Given the description of an element on the screen output the (x, y) to click on. 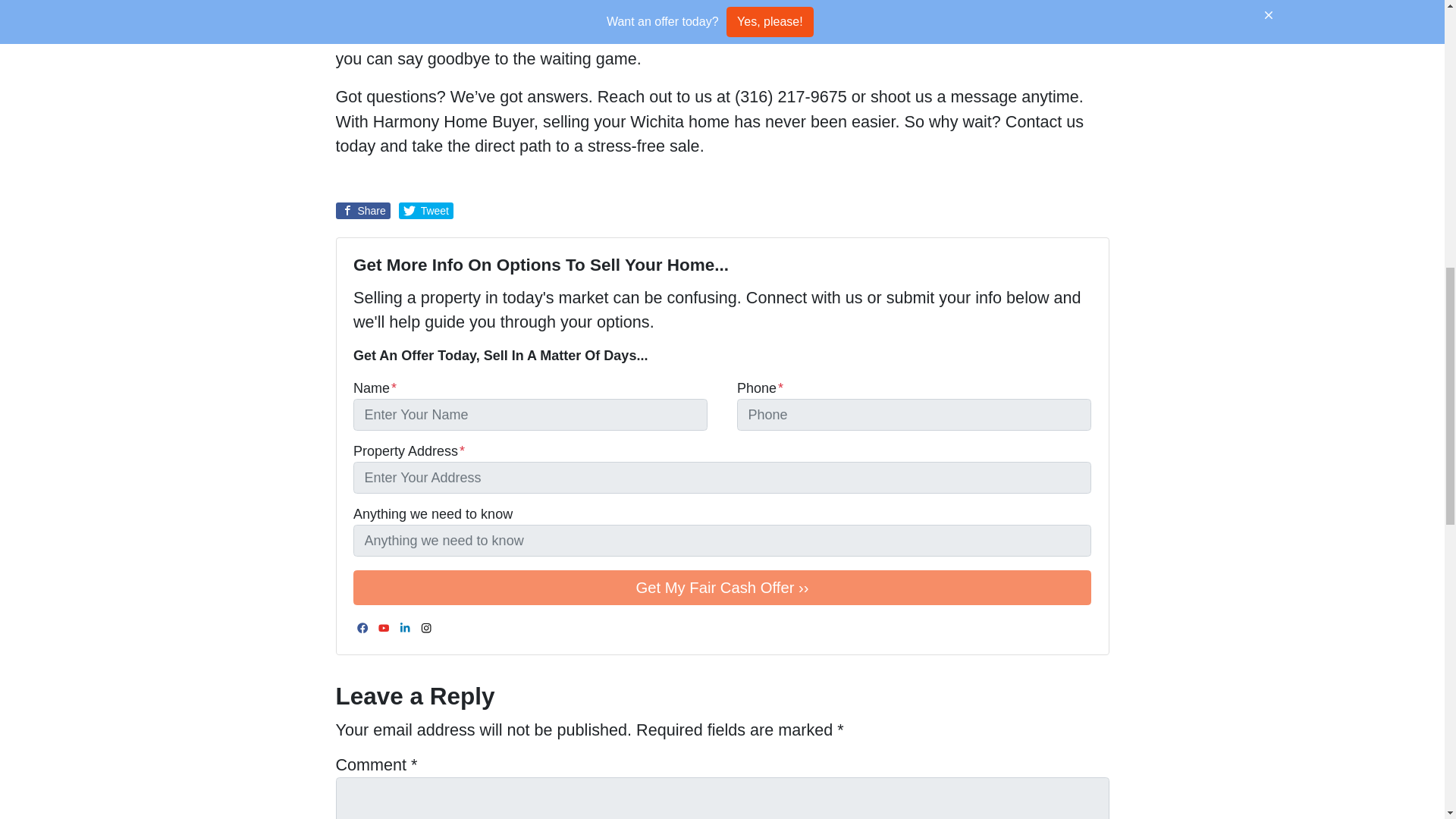
Share on Facebook (362, 210)
Facebook (362, 628)
Share on Twitter (425, 210)
Tweet (425, 210)
YouTube (383, 628)
Share (362, 210)
LinkedIn (404, 628)
Instagram (425, 628)
